Given the description of an element on the screen output the (x, y) to click on. 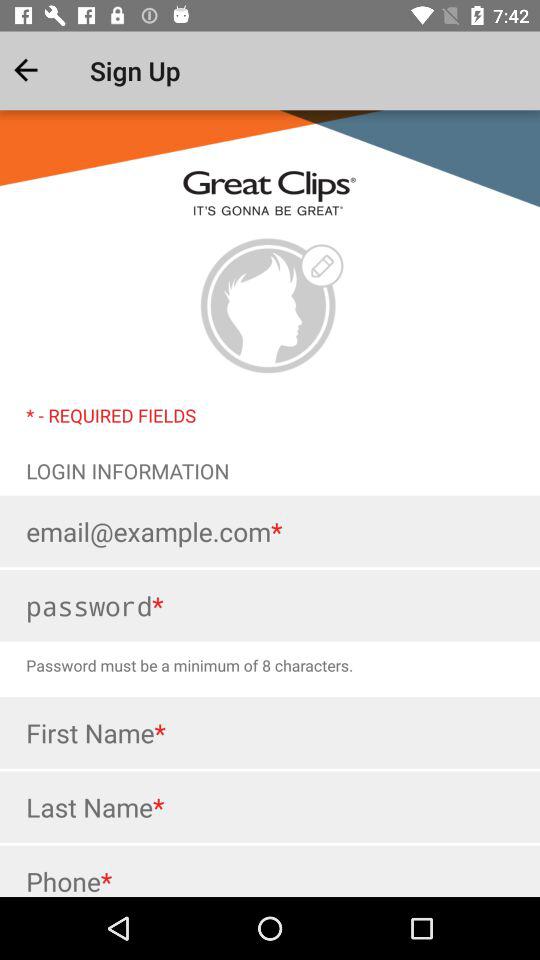
click icon above * - required fields icon (269, 305)
